Given the description of an element on the screen output the (x, y) to click on. 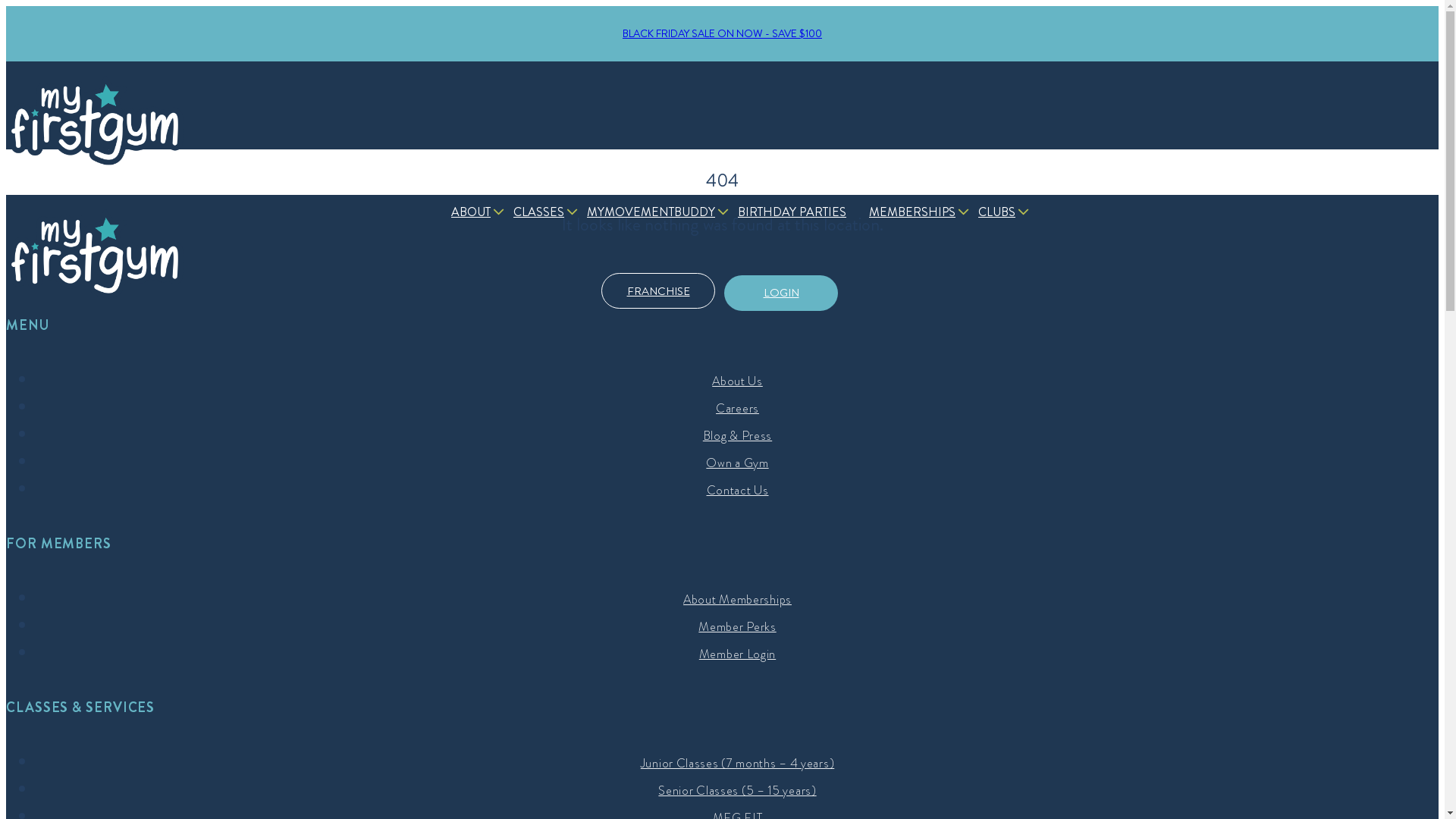
Member Perks Element type: text (736, 626)
About Us Element type: text (737, 380)
myFirstGym Element type: text (94, 120)
Member Login Element type: text (737, 653)
MEMBERSHIPS Element type: text (916, 211)
BLACK FRIDAY SALE ON NOW - SAVE $100 Element type: text (722, 32)
Blog & Press Element type: text (736, 435)
myFirstGym Element type: text (94, 253)
CLASSES Element type: text (542, 211)
BIRTHDAY PARTIES Element type: text (795, 211)
FRANCHISE Element type: text (658, 290)
About Memberships Element type: text (737, 599)
Contact Us Element type: text (737, 489)
MYMOVEMENTBUDDY Element type: text (654, 211)
Careers Element type: text (737, 408)
ABOUT Element type: text (474, 211)
Own a Gym Element type: text (737, 462)
LOGIN Element type: text (780, 292)
CLUBS Element type: text (1000, 211)
